Given the description of an element on the screen output the (x, y) to click on. 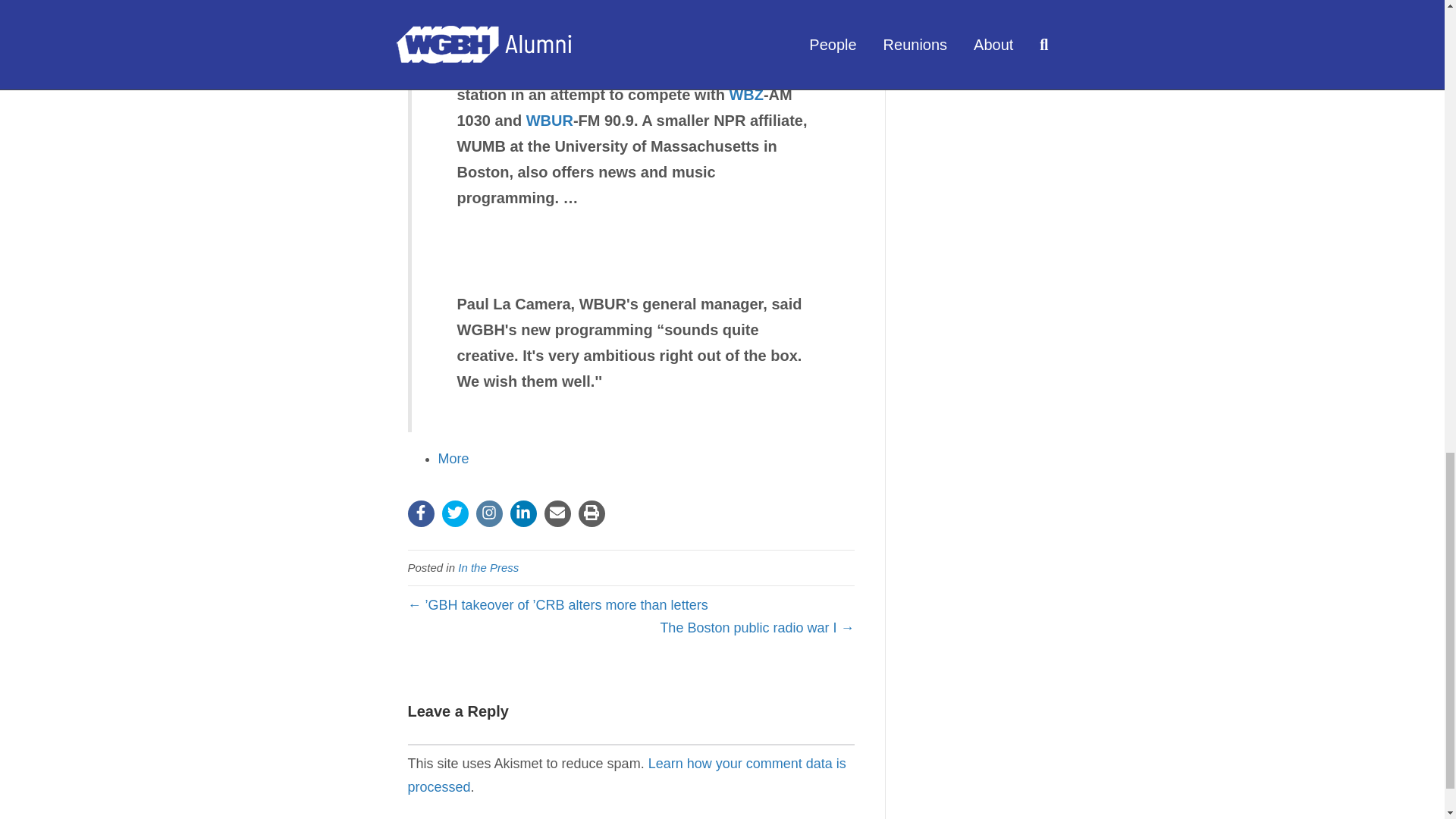
In the Press (488, 567)
WBUR (549, 120)
More (453, 458)
Posts tagged with WBZ (745, 94)
WBZ (745, 94)
Posts tagged with WBUR (549, 120)
